Given the description of an element on the screen output the (x, y) to click on. 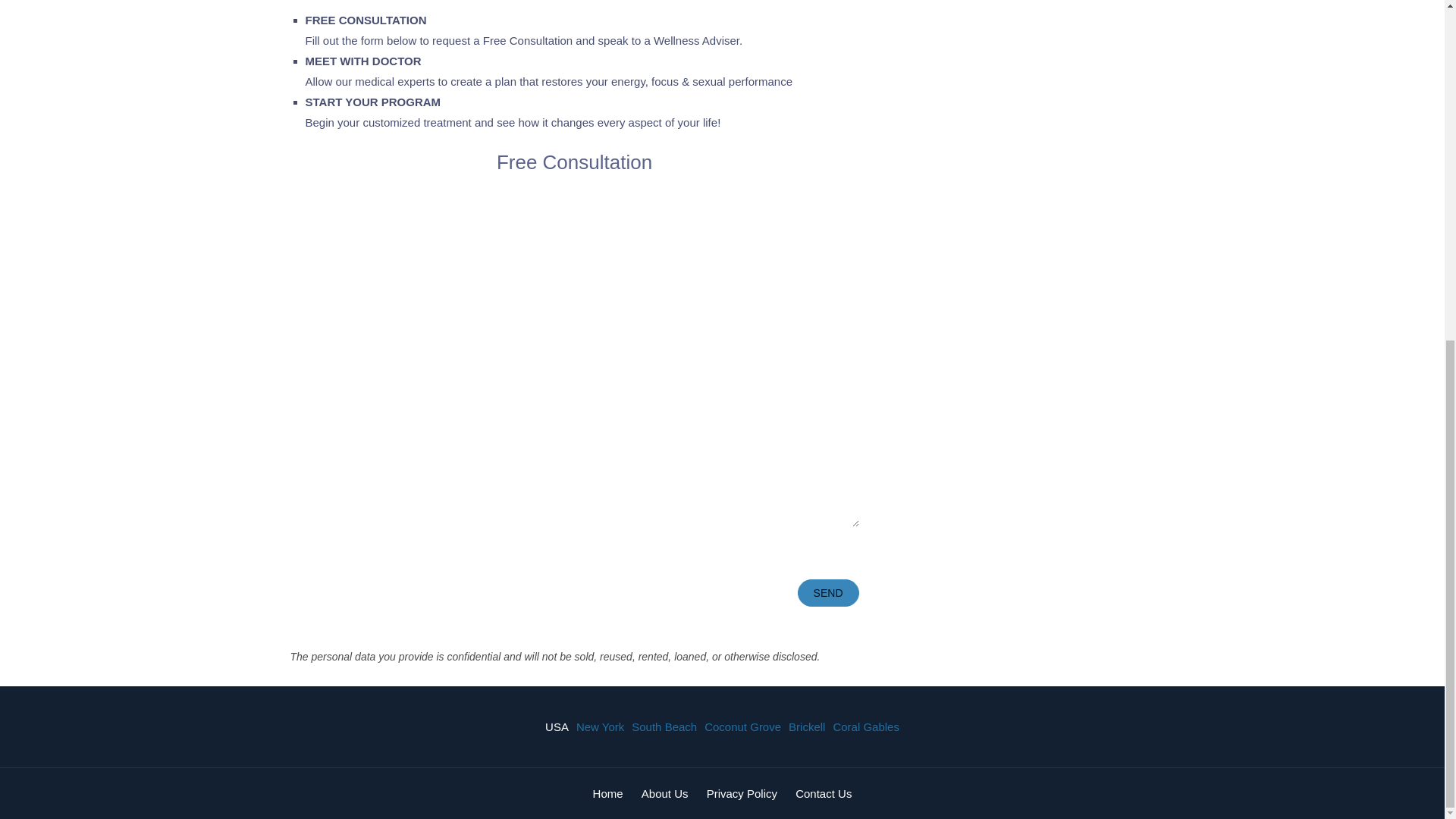
Privacy Policy (741, 793)
Coral Gables (865, 726)
Home (607, 793)
USA (556, 726)
Send (828, 592)
Contact Us (822, 793)
Coconut Grove (742, 726)
South Beach (663, 726)
New York (599, 726)
About Us (665, 793)
